Given the description of an element on the screen output the (x, y) to click on. 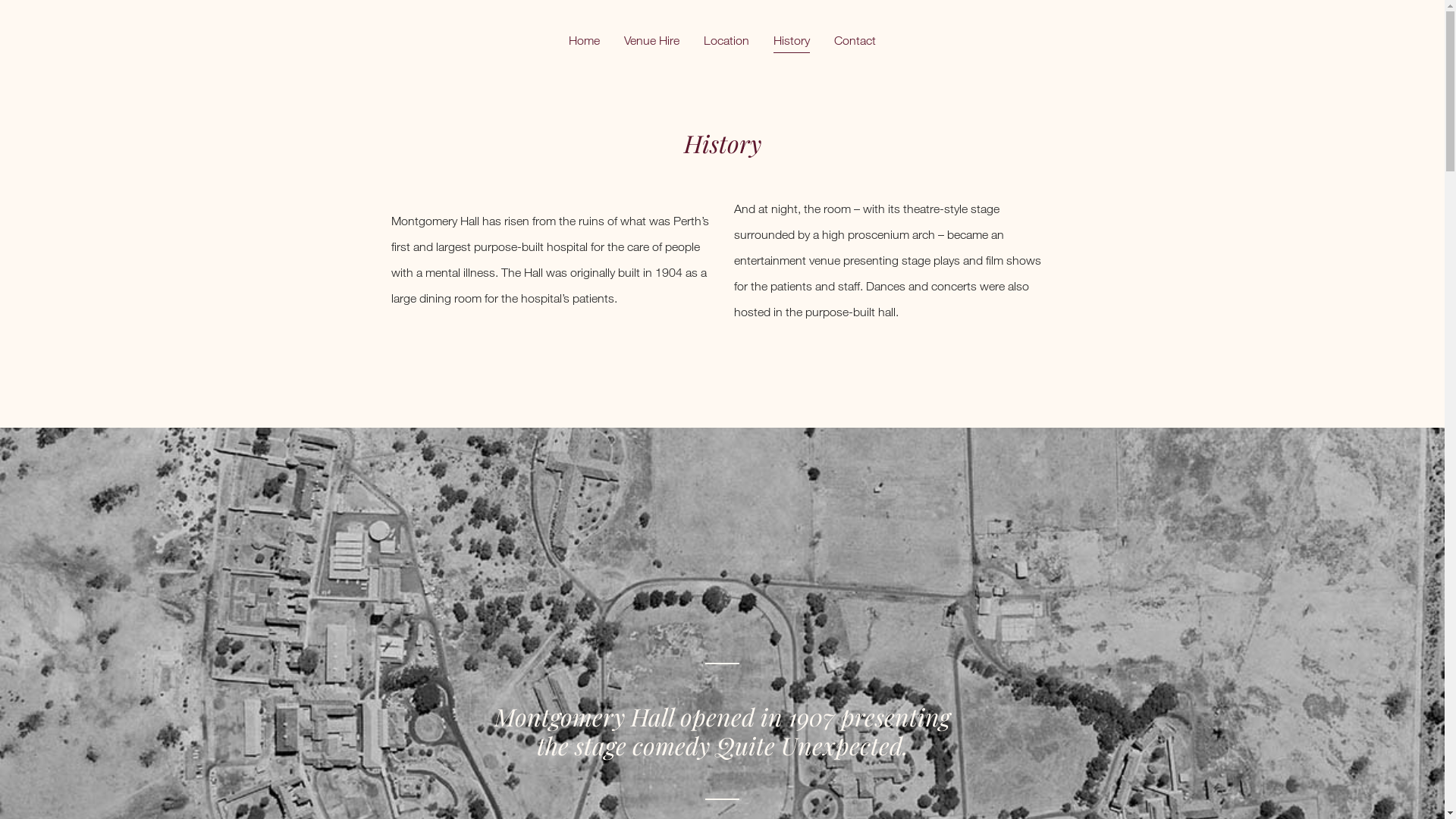
History Element type: text (791, 39)
Contact Element type: text (854, 39)
Home Element type: text (583, 39)
Location Element type: text (726, 39)
Venue Hire Element type: text (651, 39)
